Given the description of an element on the screen output the (x, y) to click on. 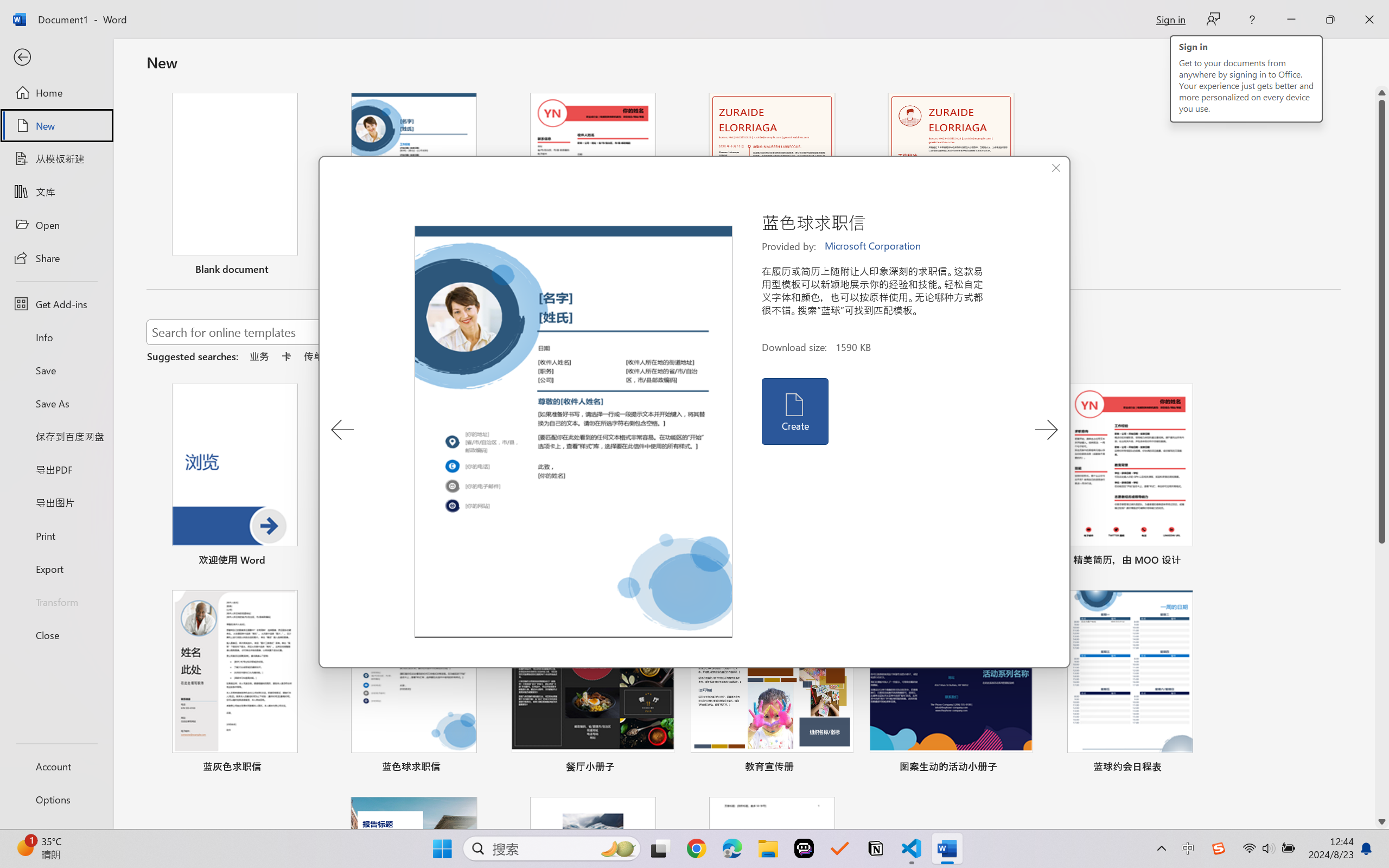
Line down (1382, 821)
Next Template (1046, 430)
Page down (1382, 679)
Previous Template (342, 430)
Account (56, 765)
Search for online templates (389, 333)
